Given the description of an element on the screen output the (x, y) to click on. 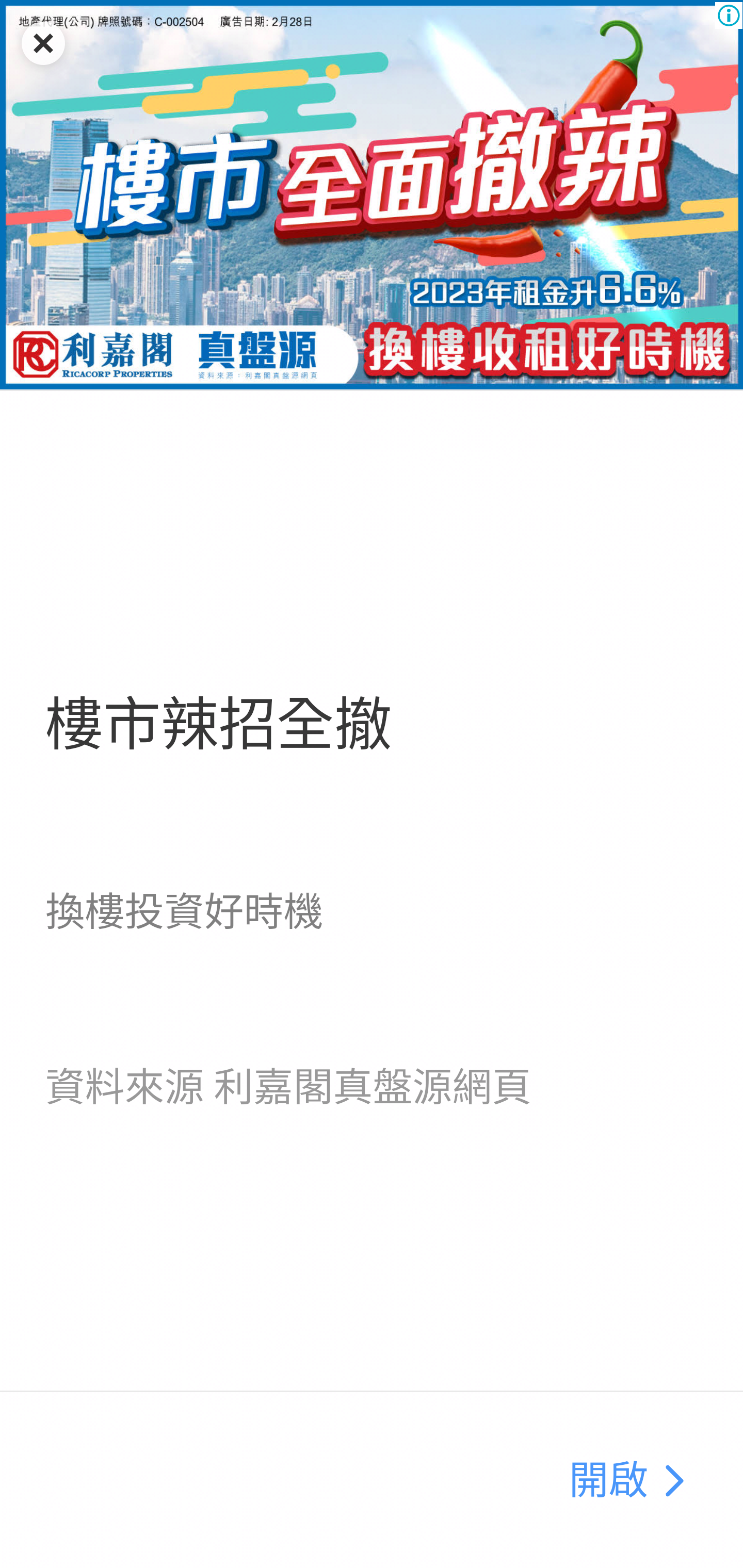
B31476451 (371, 195)
樓市辣招全撤 (218, 724)
換樓投資好時機 (184, 911)
資料來源 利嘉閣真盤源網頁 (287, 1087)
B31476451 (673, 1480)
開啟 (608, 1480)
